Given the description of an element on the screen output the (x, y) to click on. 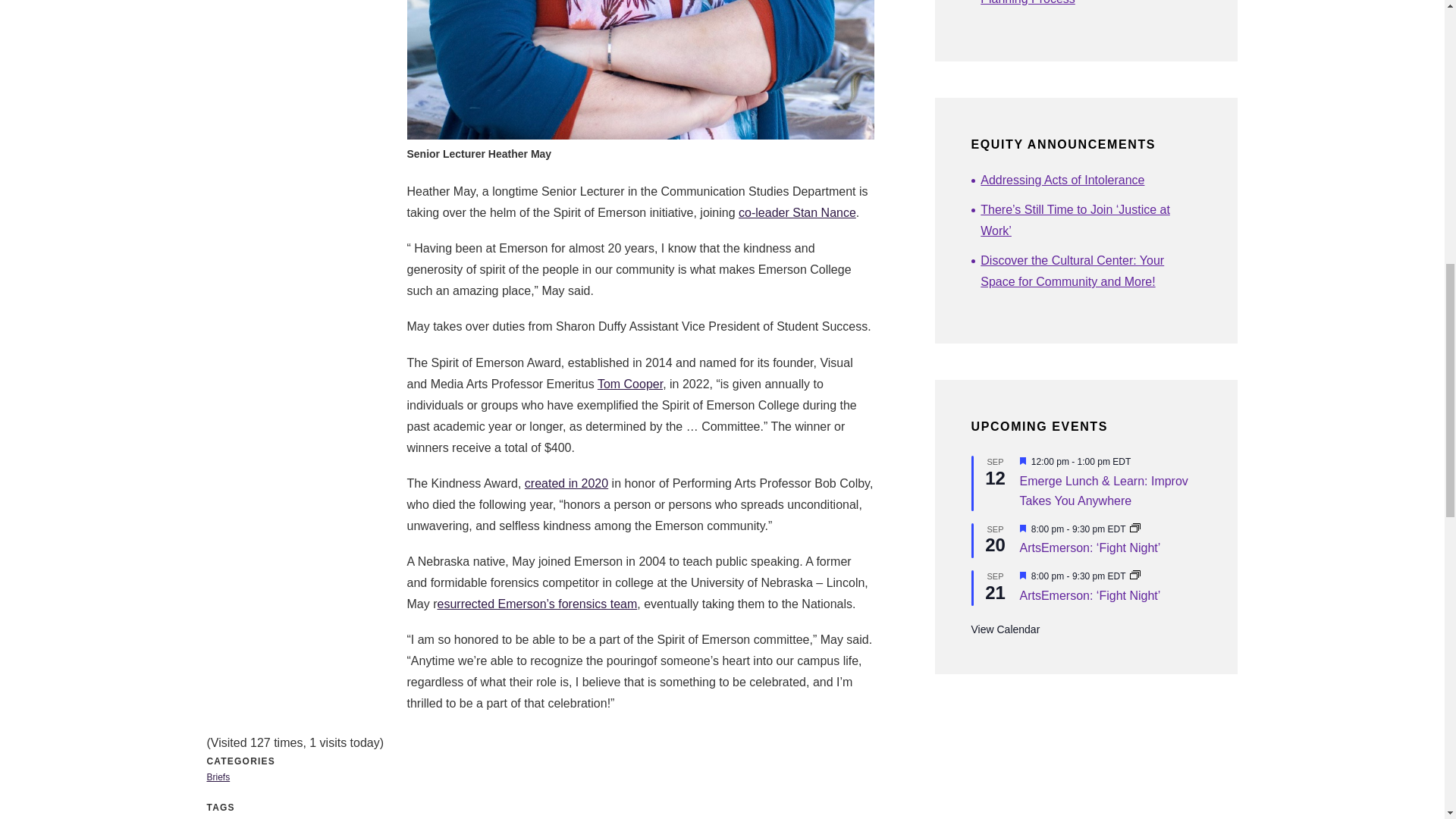
View more events. (1005, 629)
Event Series (1134, 575)
Event Series (1134, 529)
co-leader Stan Nance (797, 212)
Briefs (218, 777)
created in 2020 (566, 482)
Tom Cooper (629, 383)
